Given the description of an element on the screen output the (x, y) to click on. 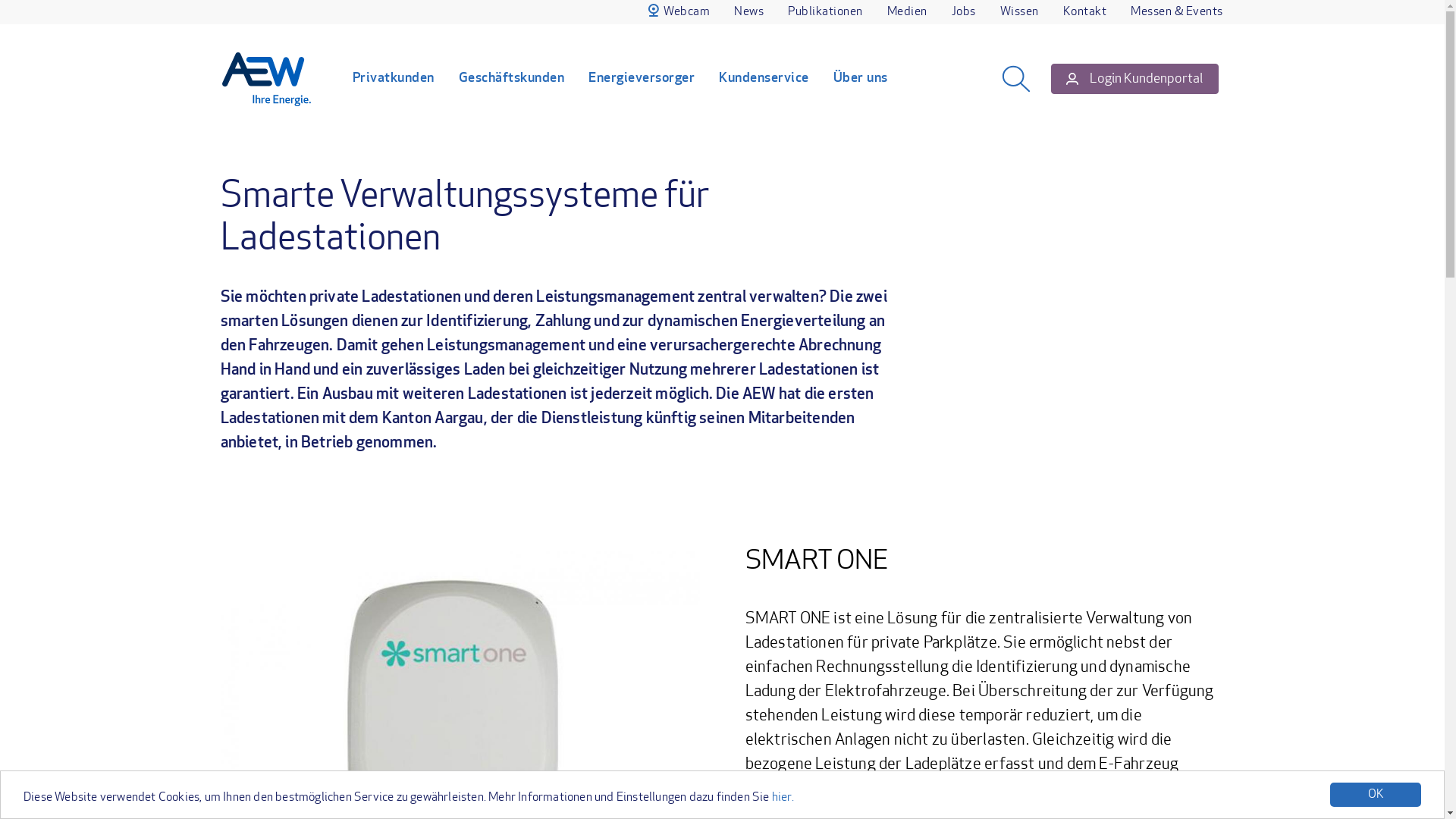
Login Kundenportal Element type: text (1134, 78)
Kundenservice Element type: text (763, 78)
Messen & Events Element type: text (1176, 12)
Jobs Element type: text (962, 12)
Wissen Element type: text (1018, 12)
OK Element type: text (1375, 794)
Webcam Element type: text (678, 12)
News Element type: text (748, 12)
Publikationen Element type: text (824, 12)
hier. Element type: text (782, 797)
Medien Element type: text (907, 12)
Energieversorger Element type: text (641, 78)
Privatkunden Element type: text (392, 78)
Kontakt Element type: text (1085, 12)
